Given the description of an element on the screen output the (x, y) to click on. 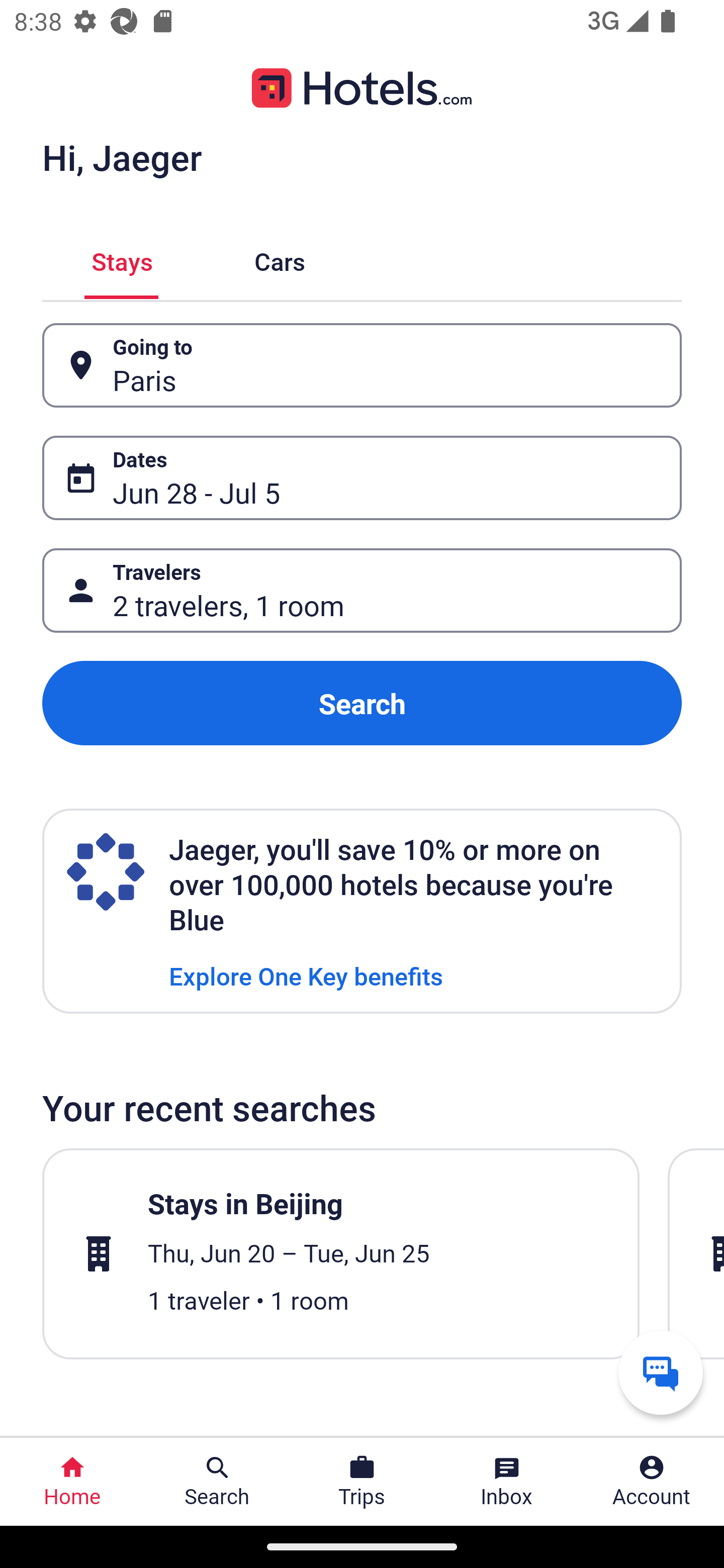
Hi, Jaeger (121, 156)
Cars (279, 259)
Going to Button Paris (361, 365)
Dates Button Jun 28 - Jul 5 (361, 477)
Travelers Button 2 travelers, 1 room (361, 590)
Search (361, 702)
Get help from a virtual agent (660, 1371)
Search Search Button (216, 1481)
Trips Trips Button (361, 1481)
Inbox Inbox Button (506, 1481)
Account Profile. Button (651, 1481)
